Given the description of an element on the screen output the (x, y) to click on. 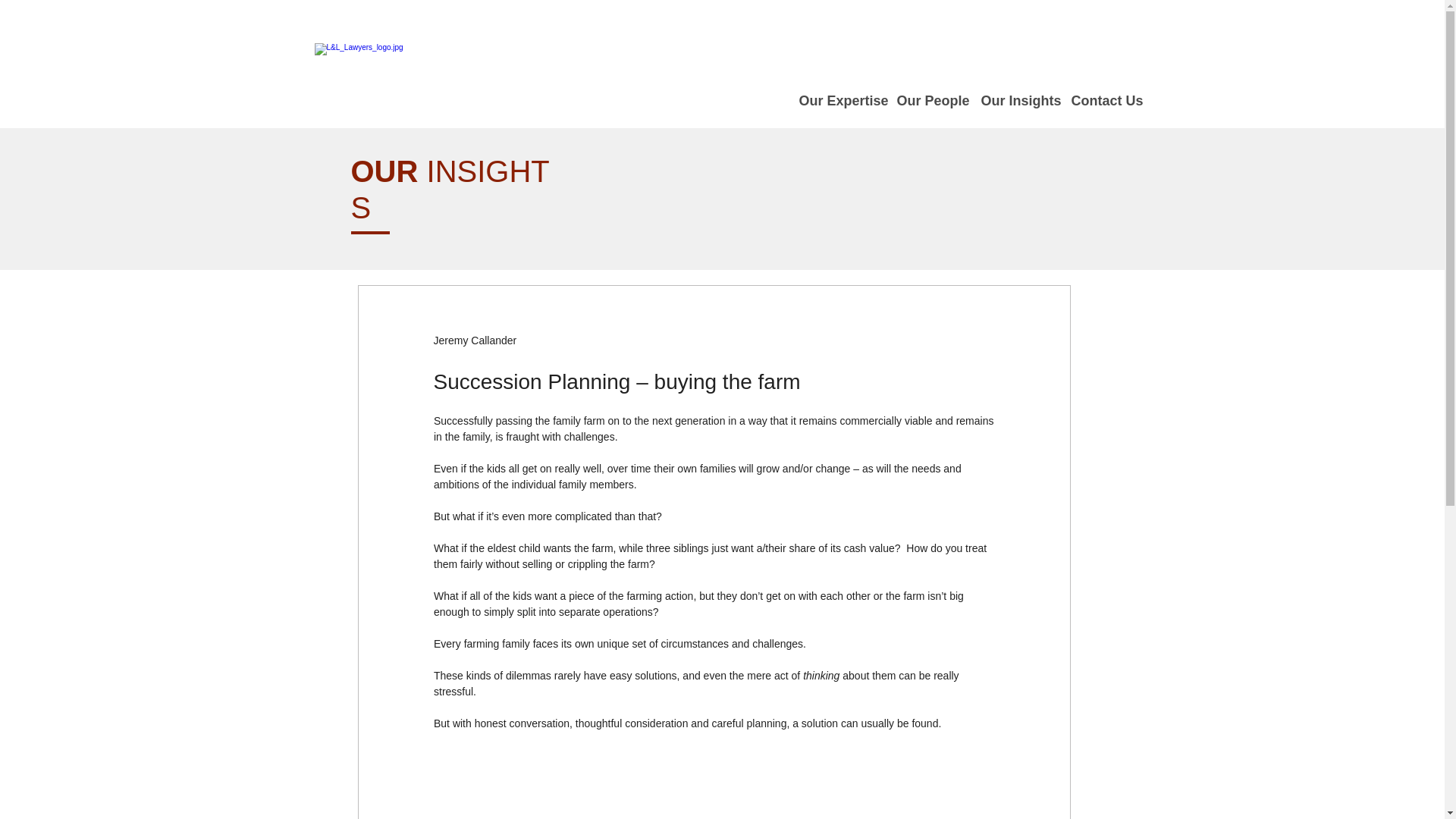
Our People (930, 100)
Contact Us (1103, 100)
Jeremy Callander (474, 340)
Our Expertise (839, 100)
Our Insights (1017, 100)
